Given the description of an element on the screen output the (x, y) to click on. 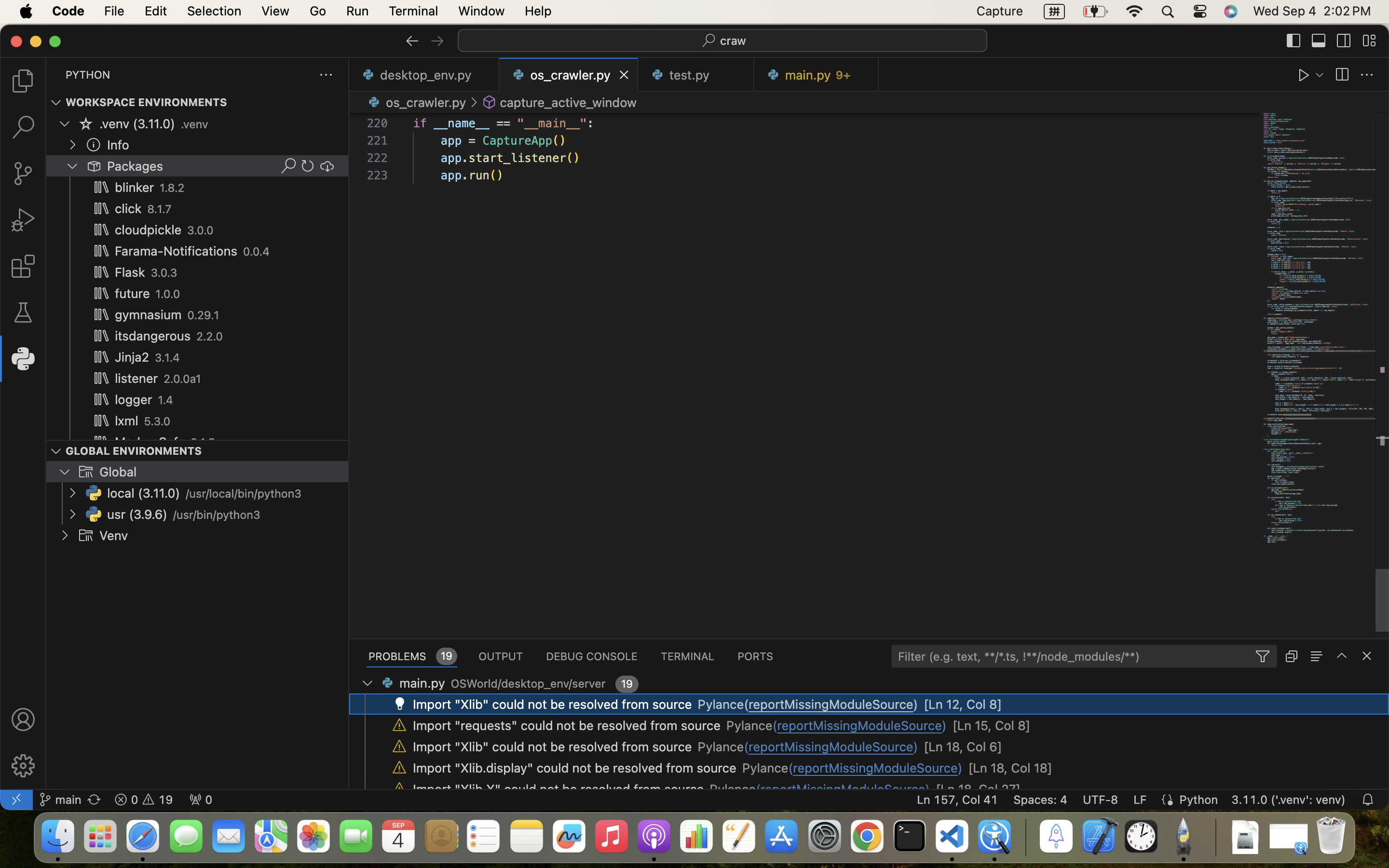
click Element type: AXStaticText (127, 208)
logger Element type: AXStaticText (133, 399)
0.29.1 Element type: AXStaticText (203, 315)
1 Element type: AXRadioButton (23, 358)
Global Element type: AXStaticText (117, 471)
